Given the description of an element on the screen output the (x, y) to click on. 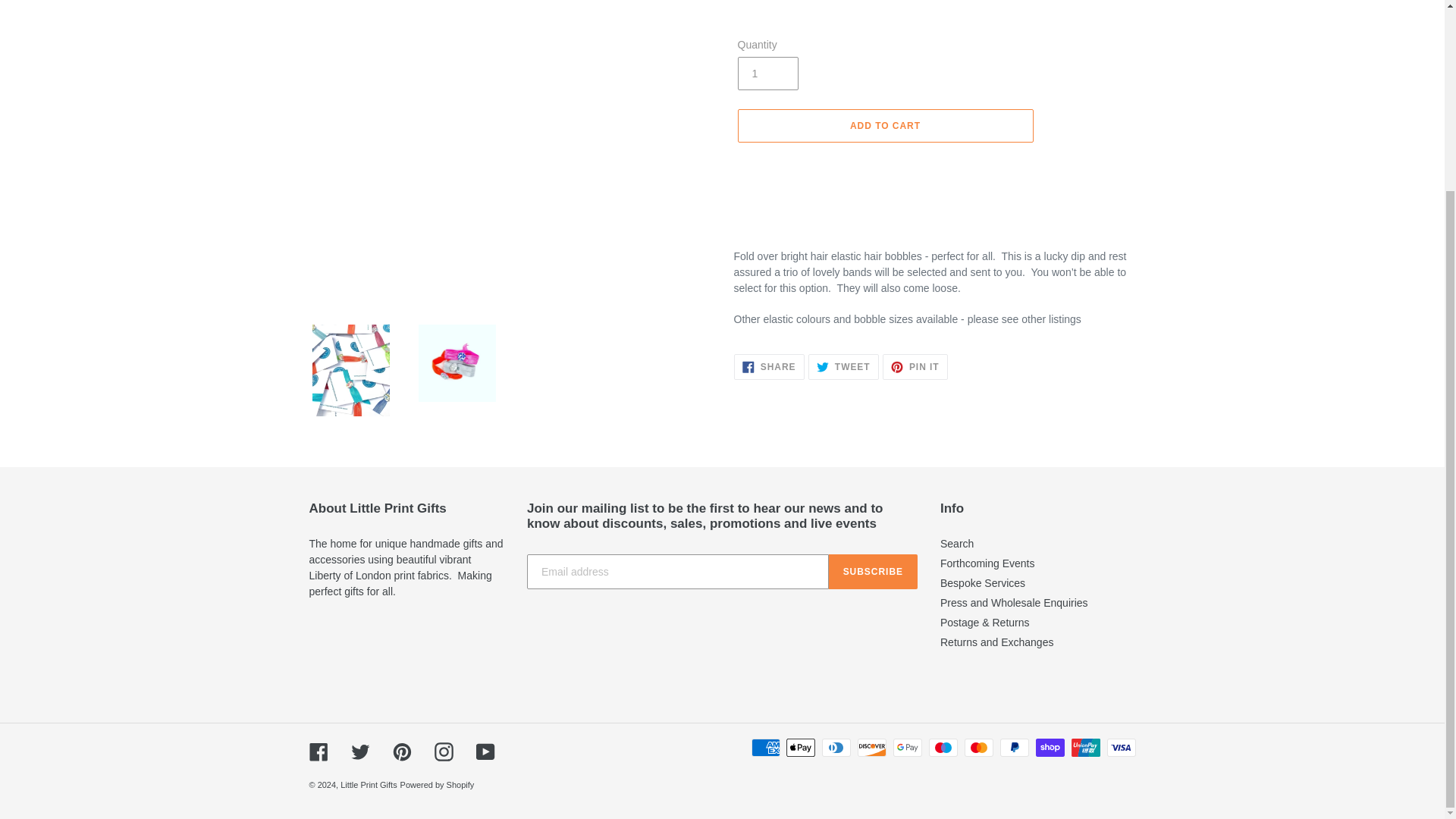
1 (766, 73)
